Given the description of an element on the screen output the (x, y) to click on. 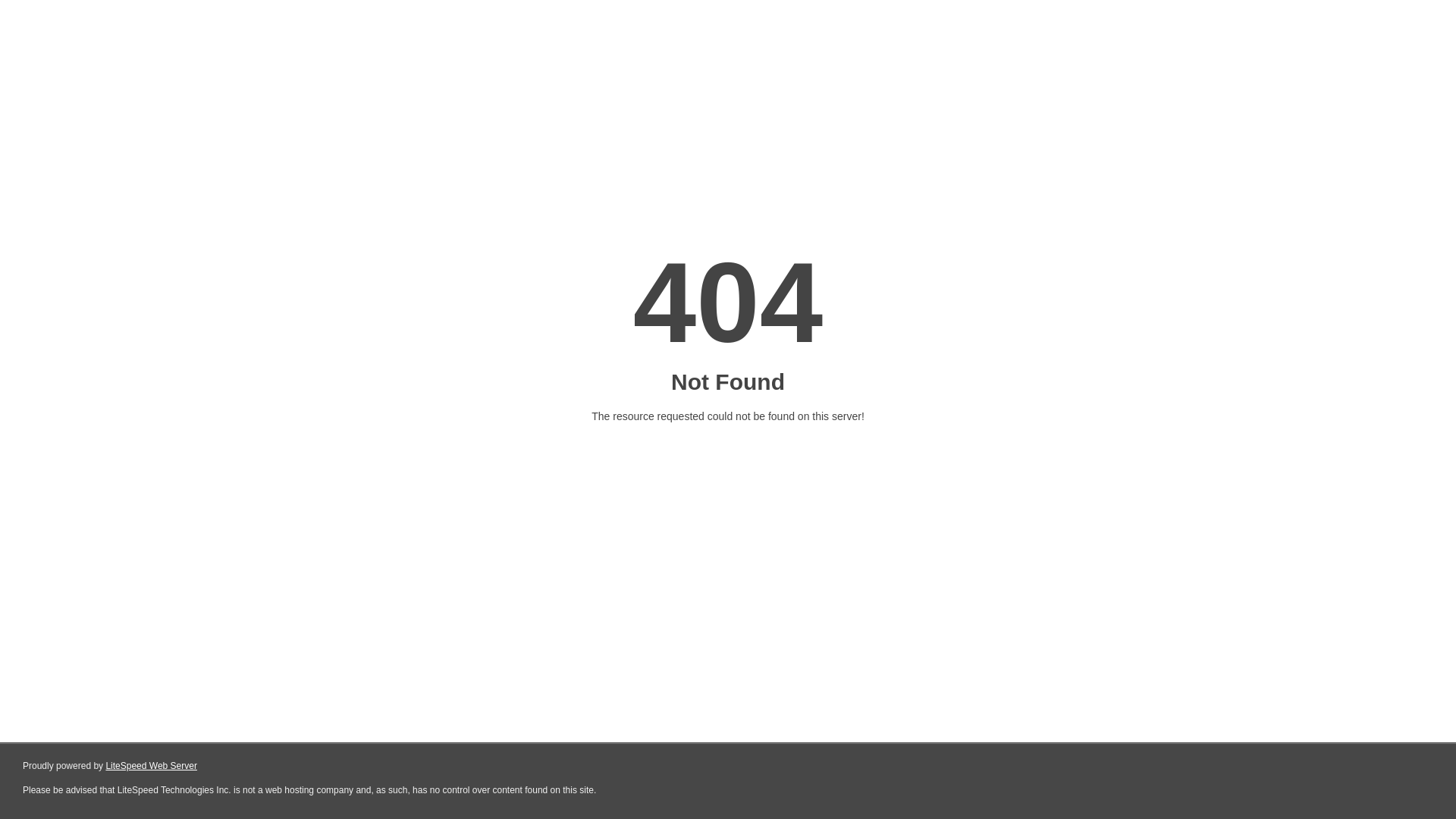
LiteSpeed Web Server Element type: text (151, 765)
